Given the description of an element on the screen output the (x, y) to click on. 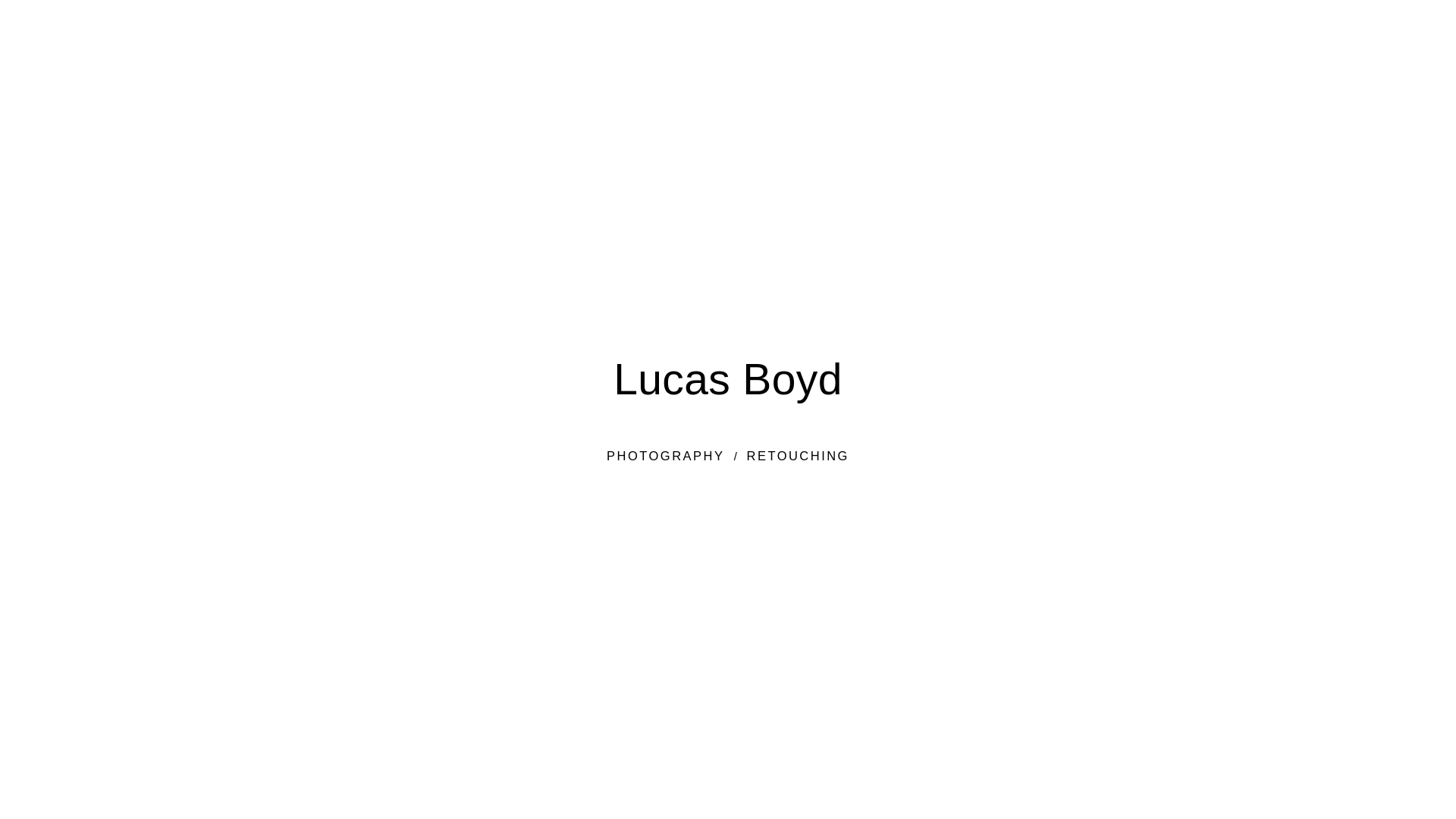
RETOUCHING Element type: text (797, 455)
PHOTOGRAPHY Element type: text (665, 455)
